Given the description of an element on the screen output the (x, y) to click on. 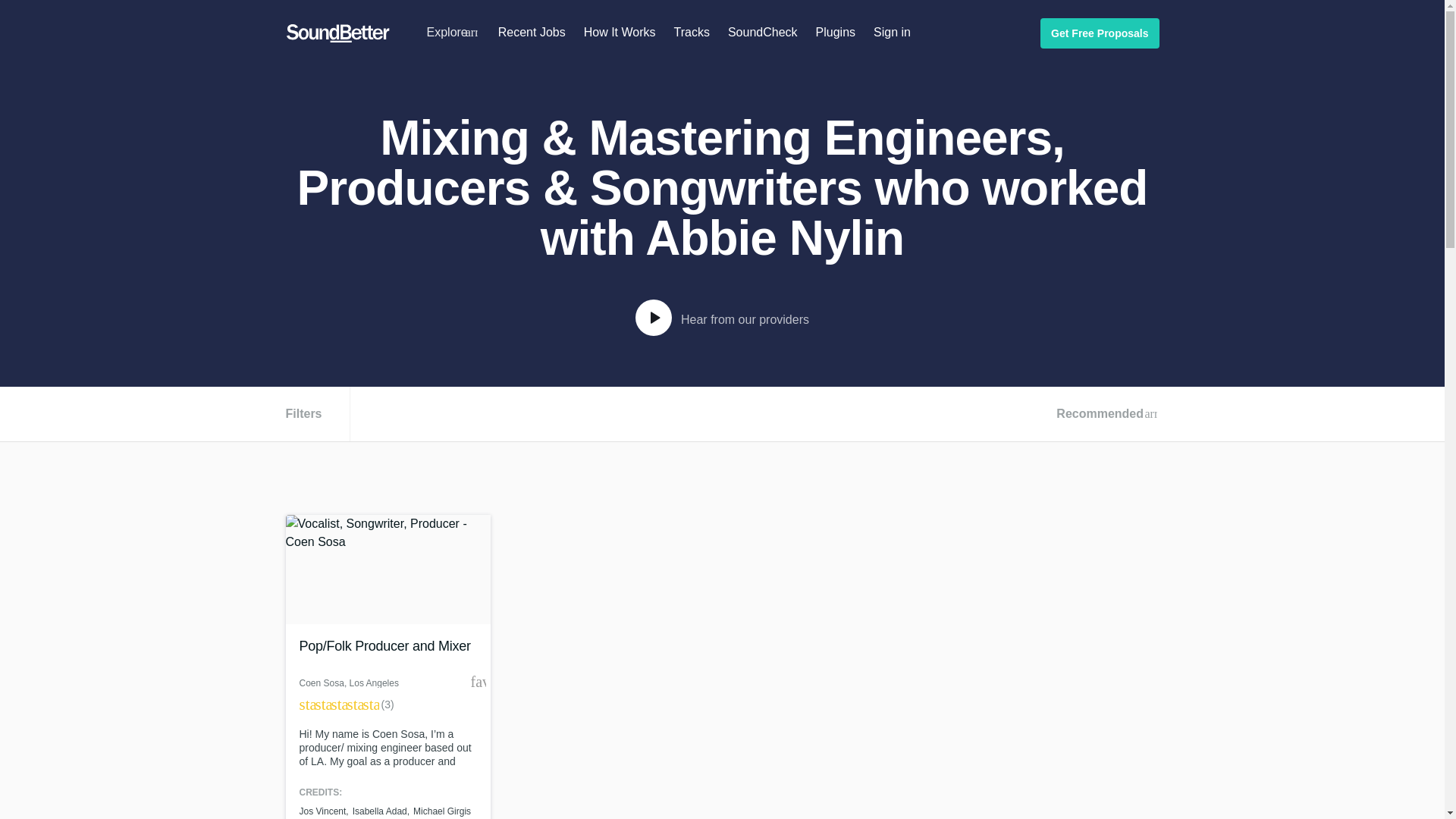
SoundBetter (337, 33)
